Given the description of an element on the screen output the (x, y) to click on. 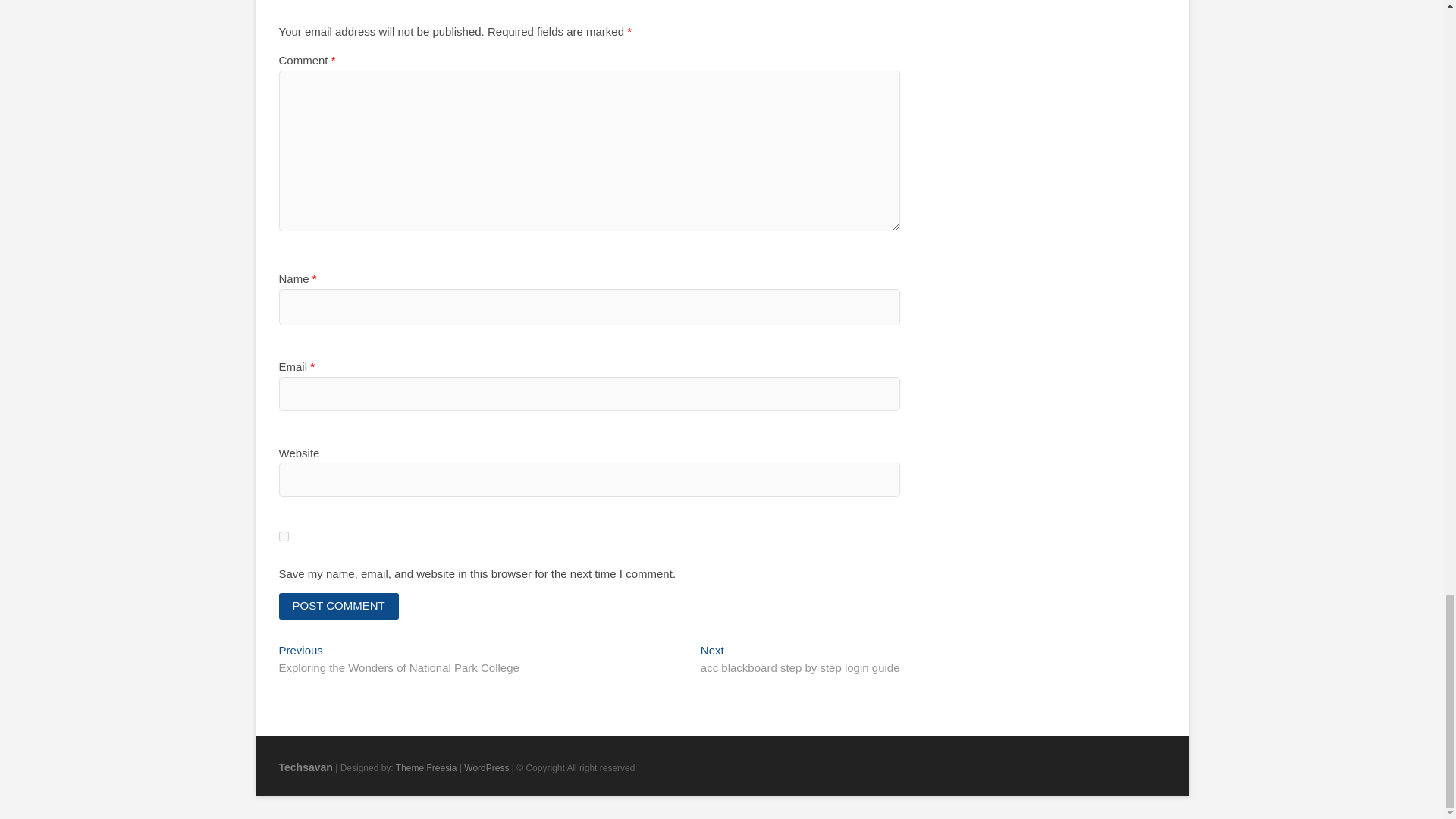
Techsavan (799, 660)
Post Comment (306, 767)
WordPress (338, 605)
Theme Freesia (486, 767)
Techsavan (426, 767)
Theme Freesia (306, 767)
WordPress (426, 767)
Post Comment (486, 767)
yes (338, 605)
